Given the description of an element on the screen output the (x, y) to click on. 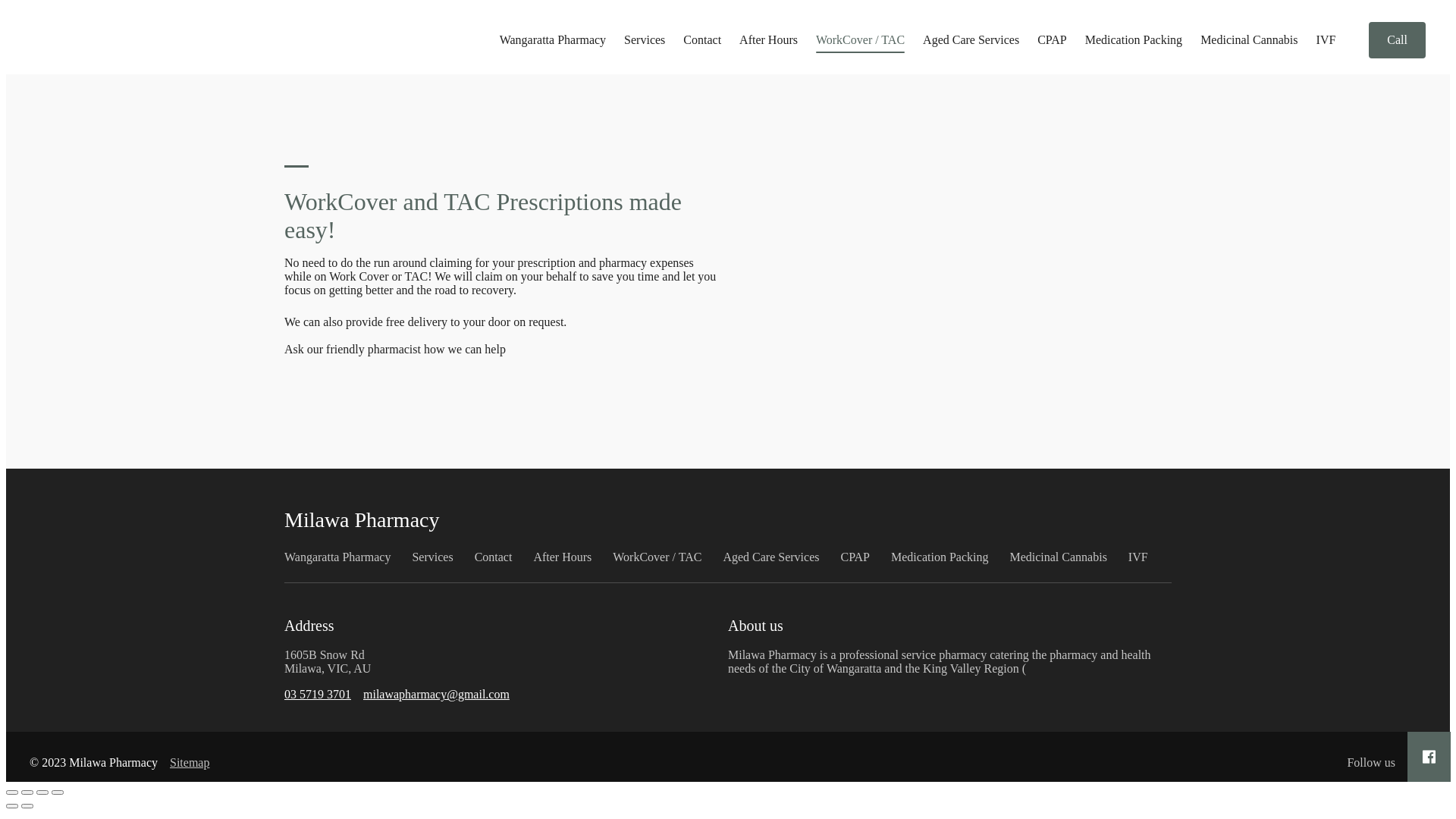
milawapharmacy@gmail.com Element type: text (436, 694)
Sitemap Element type: text (189, 762)
Close (Esc) Element type: hover (12, 792)
Next (arrow right) Element type: hover (27, 805)
After Hours Element type: text (562, 556)
Previous (arrow left) Element type: hover (12, 805)
CPAP Element type: text (854, 556)
After Hours Element type: text (768, 40)
Medicinal Cannabis Element type: text (1057, 556)
Contact Element type: text (493, 556)
Aged Care Services Element type: text (770, 556)
Call Element type: text (1396, 39)
Zoom in/out Element type: hover (57, 792)
03 5719 3701 Element type: text (317, 694)
Medication Packing Element type: text (939, 556)
CPAP Element type: text (1052, 40)
Wangaratta Pharmacy Element type: text (337, 556)
Medication Packing Element type: text (1133, 40)
Services Element type: text (644, 40)
WorkCover / TAC Element type: text (859, 40)
Medicinal Cannabis Element type: text (1248, 40)
IVF Element type: text (1326, 40)
IVF Element type: text (1138, 556)
Share Element type: hover (27, 792)
Aged Care Services Element type: text (970, 40)
Services Element type: text (431, 556)
Contact Element type: text (702, 40)
Toggle fullscreen Element type: hover (42, 792)
Wangaratta Pharmacy Element type: text (552, 40)
WorkCover / TAC Element type: text (656, 556)
